Given the description of an element on the screen output the (x, y) to click on. 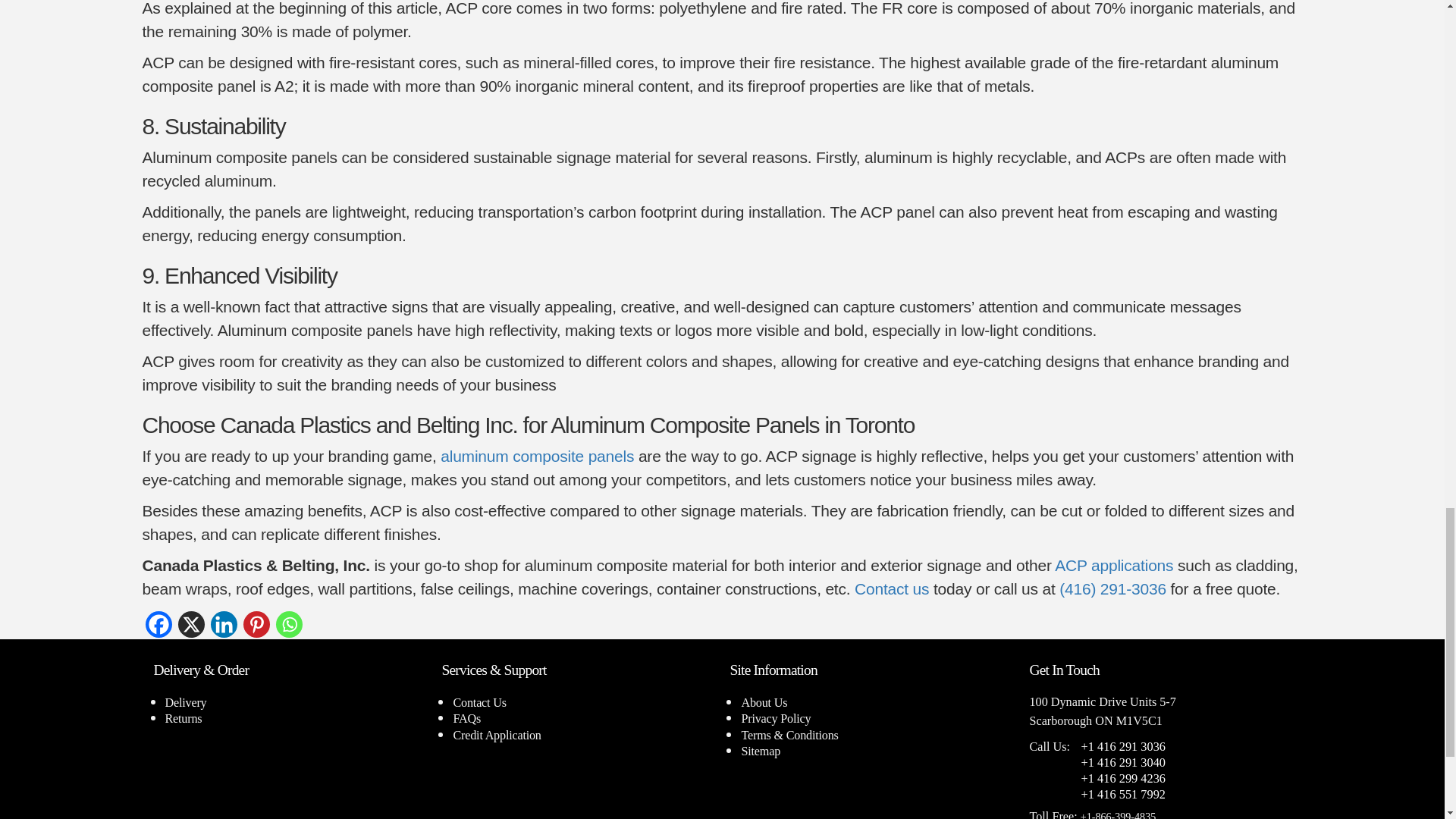
Pinterest (256, 624)
Facebook (158, 624)
Whatsapp (289, 624)
X (190, 624)
Linkedin (224, 624)
